Given the description of an element on the screen output the (x, y) to click on. 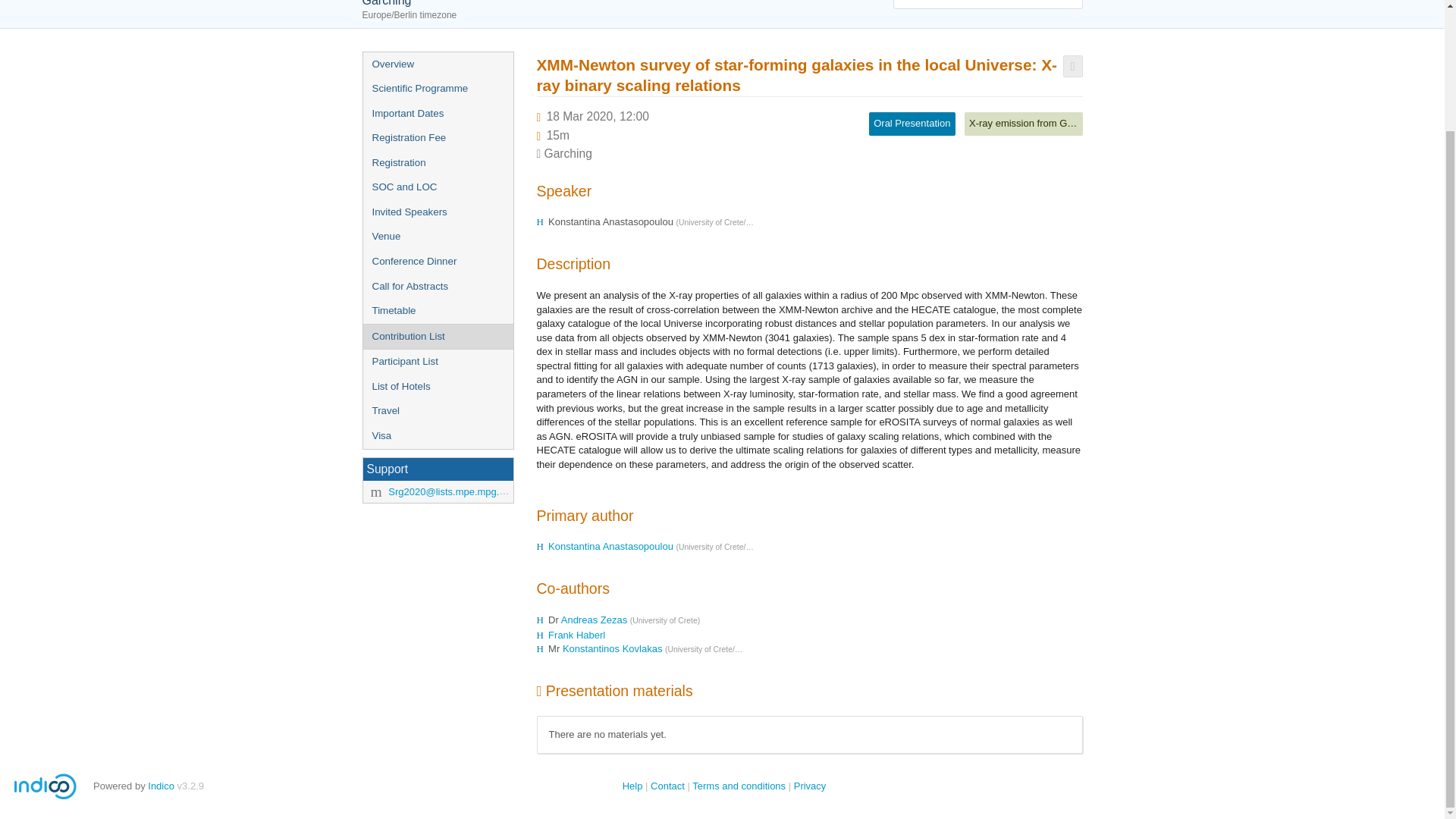
Registration (437, 163)
SOC and LOC (437, 187)
Export (1072, 65)
Scientific Programme (437, 88)
Registration Fee (437, 138)
Important Dates (437, 113)
Overview (437, 64)
Invited Speakers (437, 212)
Duration (558, 134)
